Given the description of an element on the screen output the (x, y) to click on. 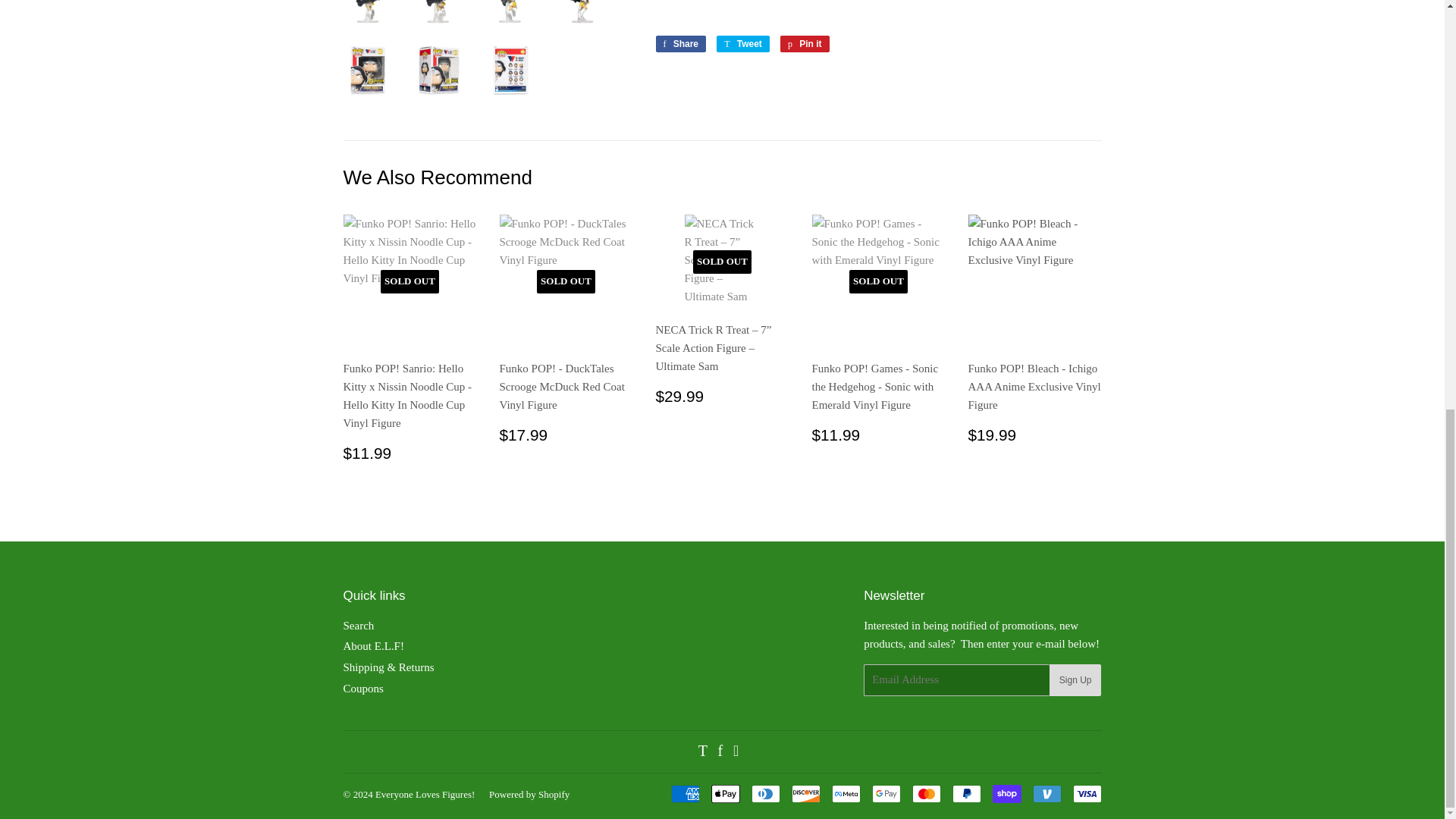
Pin on Pinterest (804, 44)
Meta Pay (845, 793)
Shop Pay (1005, 793)
Share on Facebook (680, 44)
Apple Pay (725, 793)
Tweet on Twitter (743, 44)
PayPal (966, 793)
Venmo (1046, 793)
Mastercard (925, 793)
Discover (806, 793)
